Given the description of an element on the screen output the (x, y) to click on. 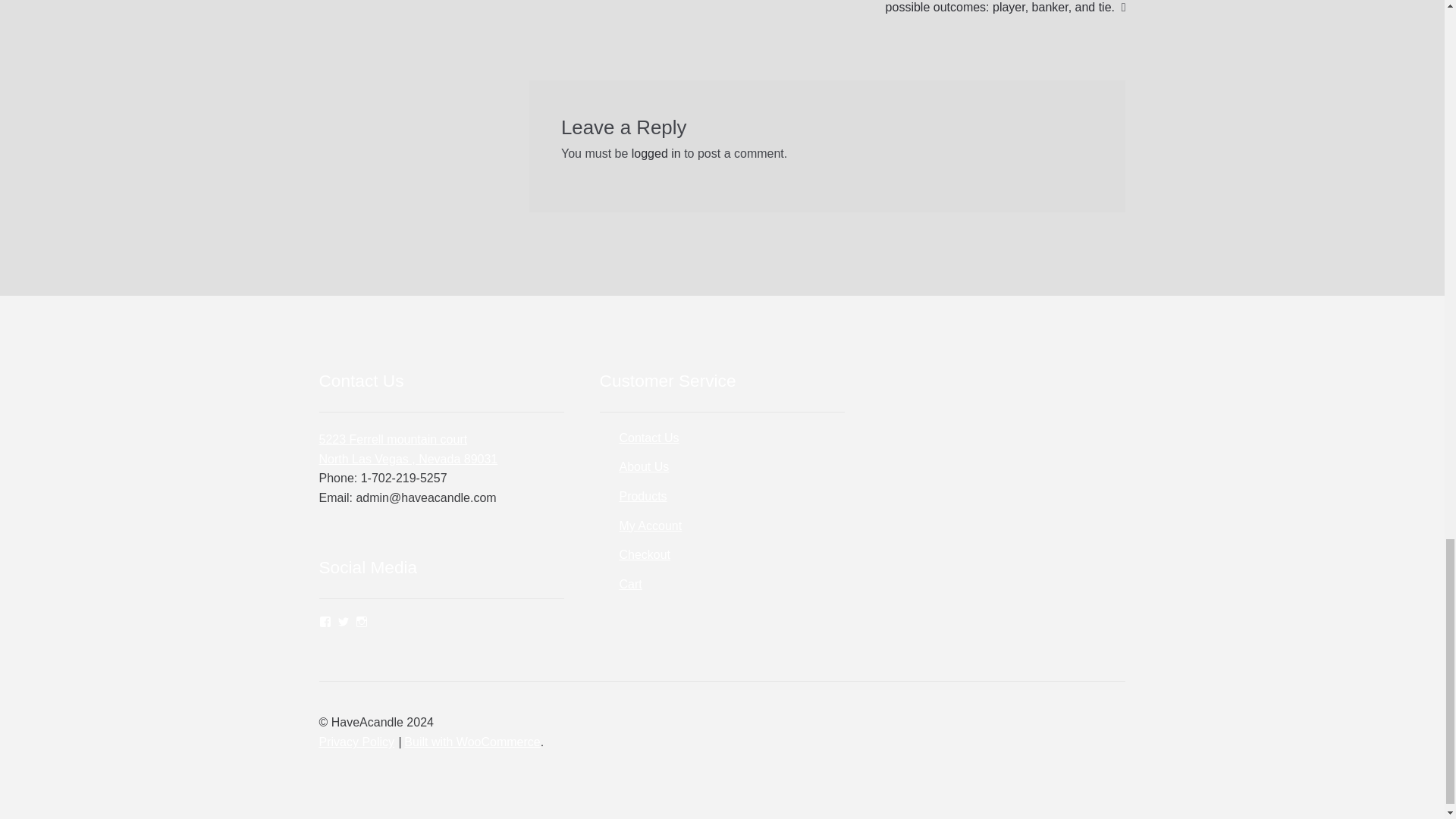
Checkout (407, 449)
My Account (643, 554)
Cart (649, 525)
logged in (630, 584)
Contact Us (656, 153)
WooCommerce - The Best eCommerce Platform for WordPress (648, 437)
Products (472, 741)
About Us (642, 495)
